Given the description of an element on the screen output the (x, y) to click on. 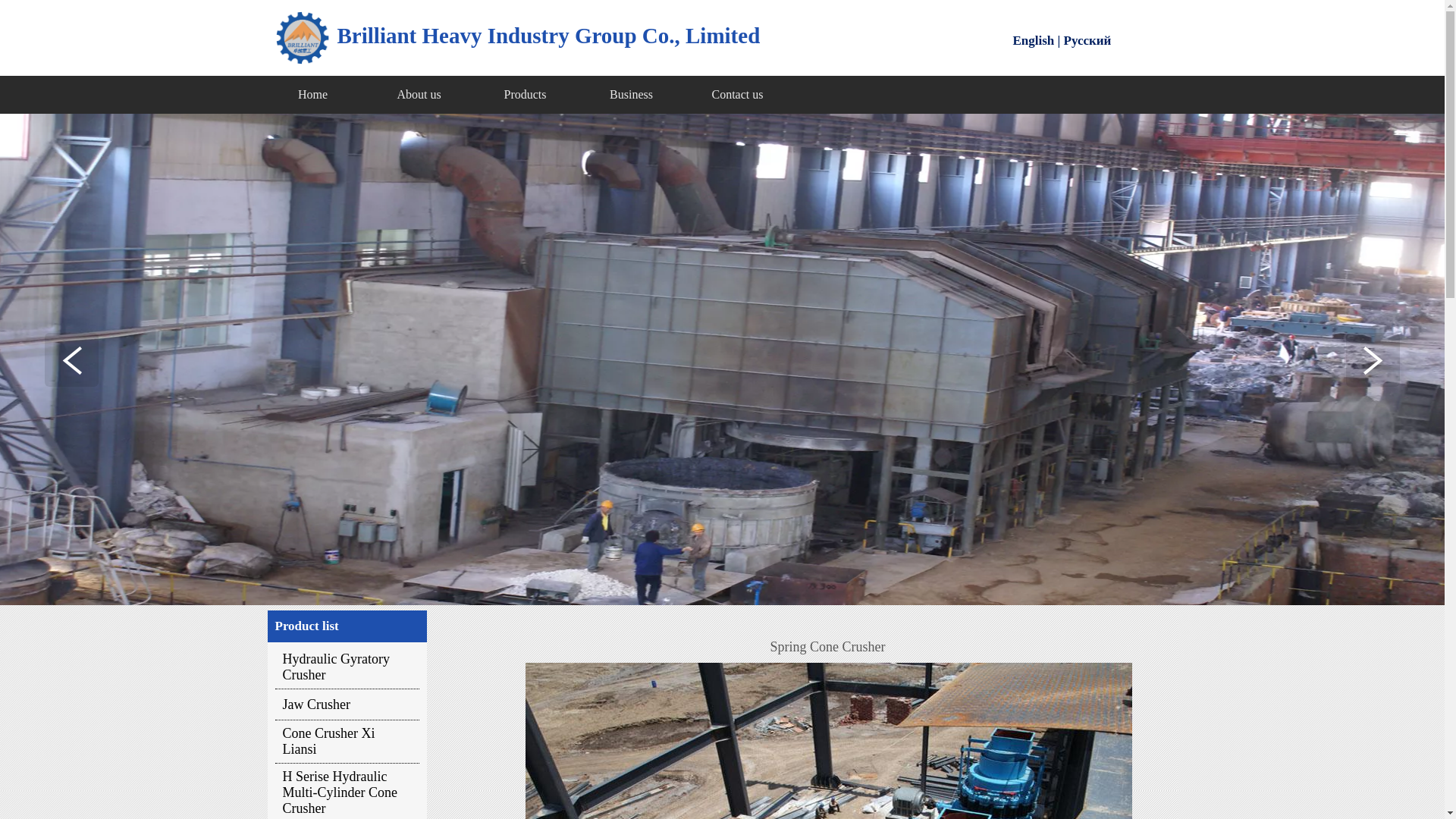
H Serise Hydraulic Multi-Cylinder Cone Crusher (347, 791)
Cone Crusher Xi Liansi (347, 741)
English (1033, 41)
Hydraulic Gyratory Crusher (347, 667)
- (302, 37)
Jaw Crusher (347, 704)
English (1033, 40)
